Given the description of an element on the screen output the (x, y) to click on. 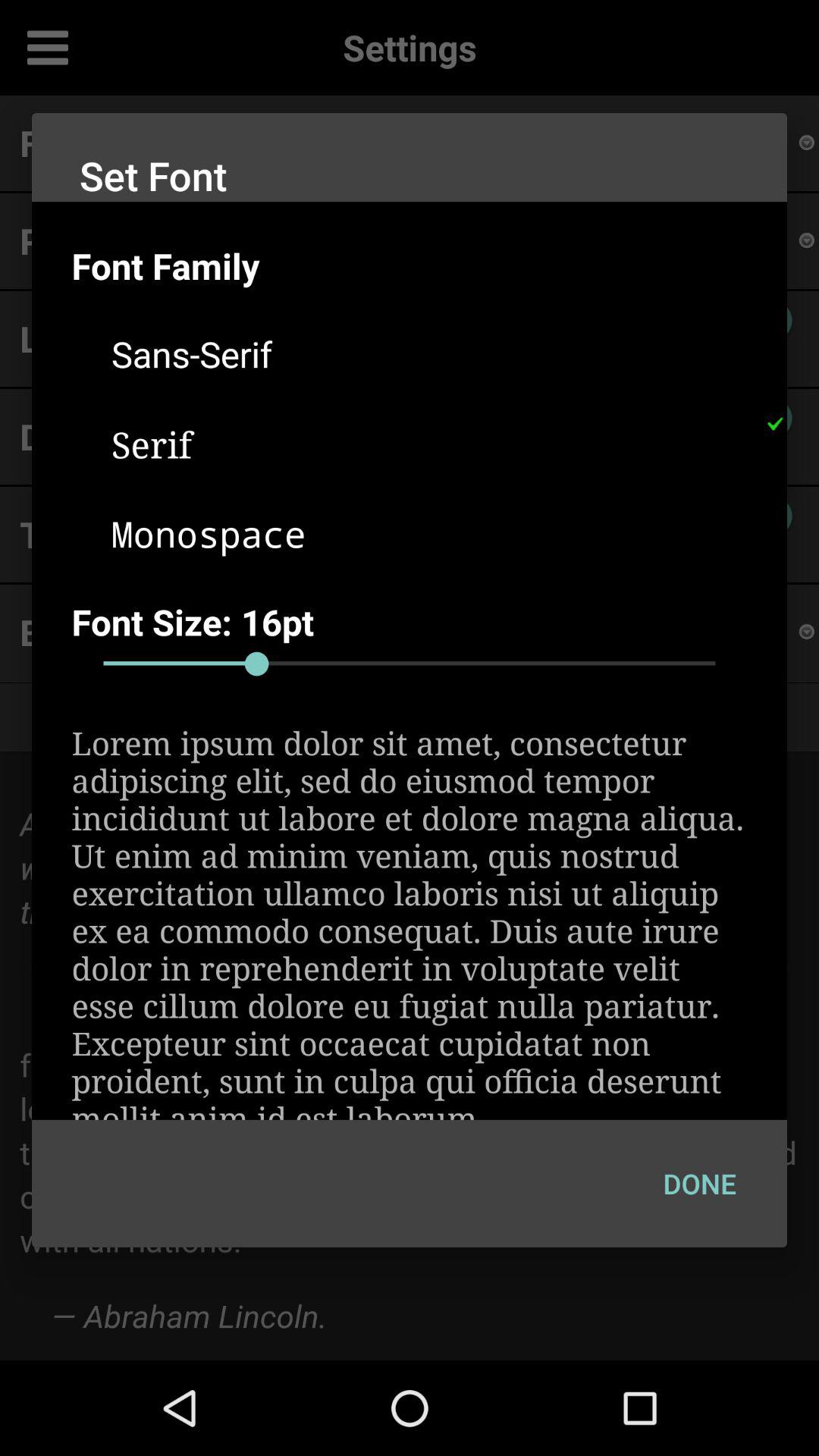
change font size option (409, 663)
